Given the description of an element on the screen output the (x, y) to click on. 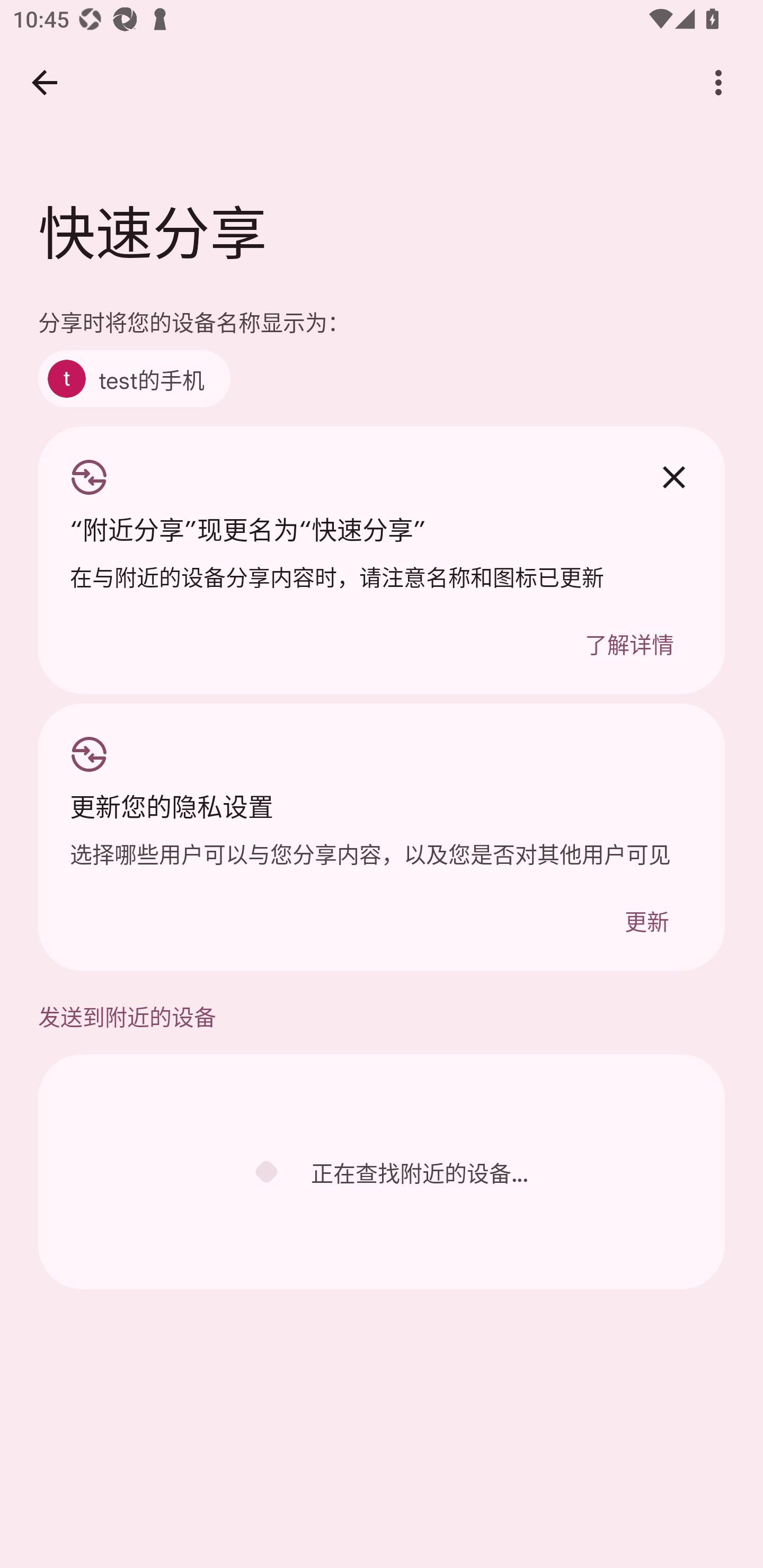
返回 (44, 81)
更多 (718, 81)
test的手机 (134, 378)
关闭 (673, 477)
了解详情 (629, 642)
更新 (646, 919)
